Given the description of an element on the screen output the (x, y) to click on. 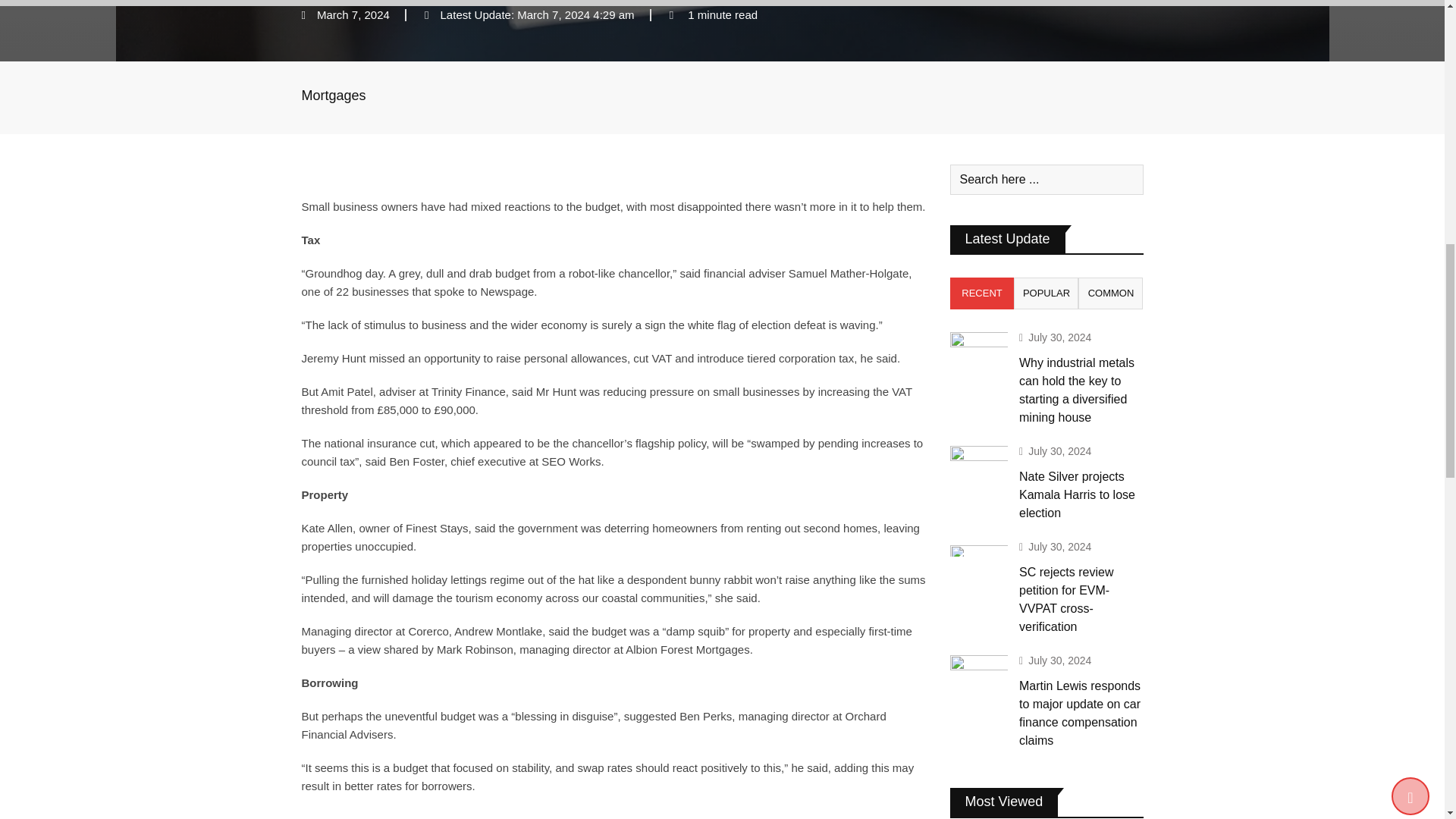
Mortgages (333, 95)
SC rejects review petition for EVM-VVPAT cross-verification (978, 549)
Nate Silver projects Kamala Harris to lose election (978, 468)
